Given the description of an element on the screen output the (x, y) to click on. 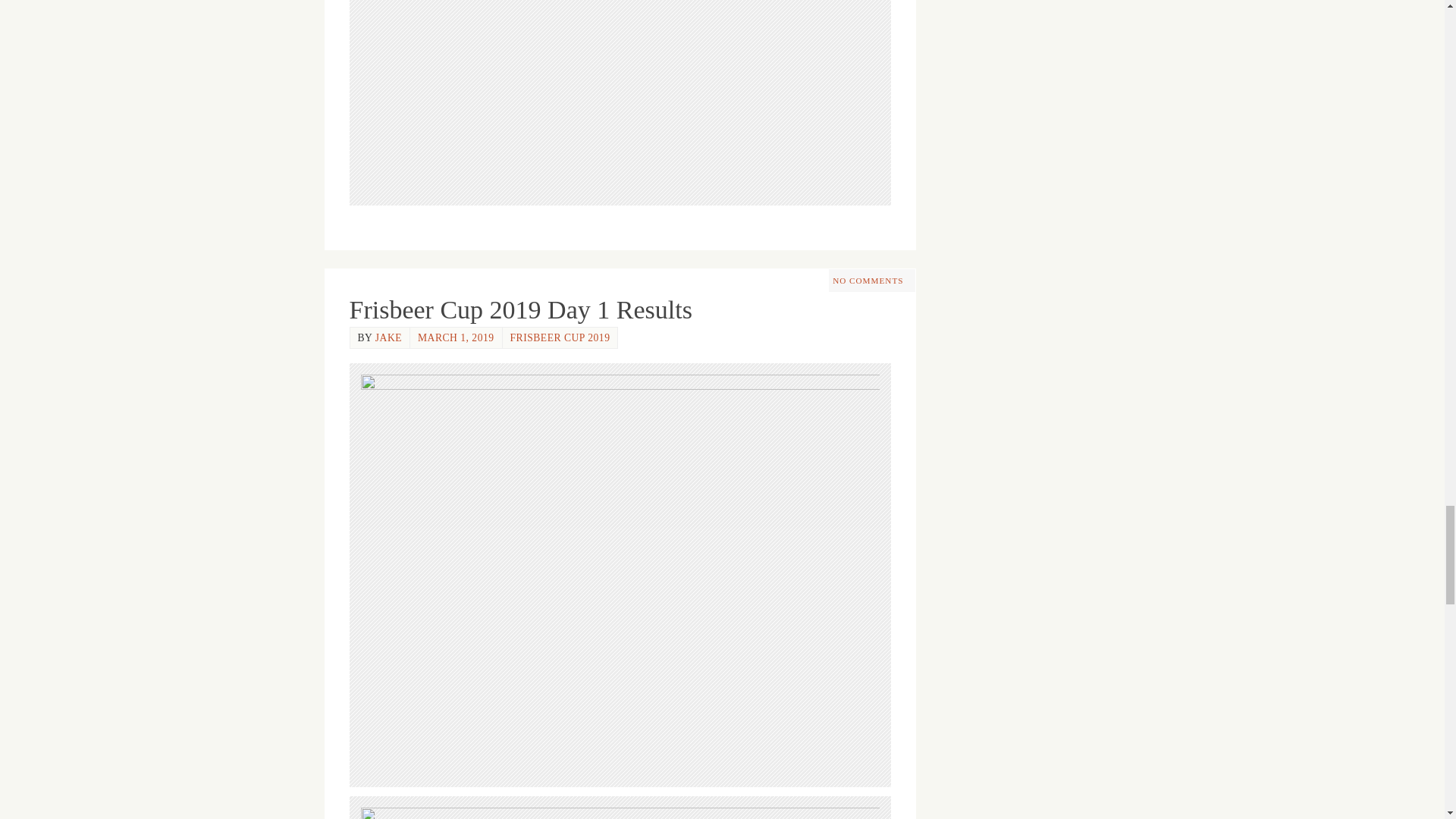
Permalink to Frisbeer Cup 2019 Day 1 Results (520, 309)
View all posts by Jake (388, 337)
